Given the description of an element on the screen output the (x, y) to click on. 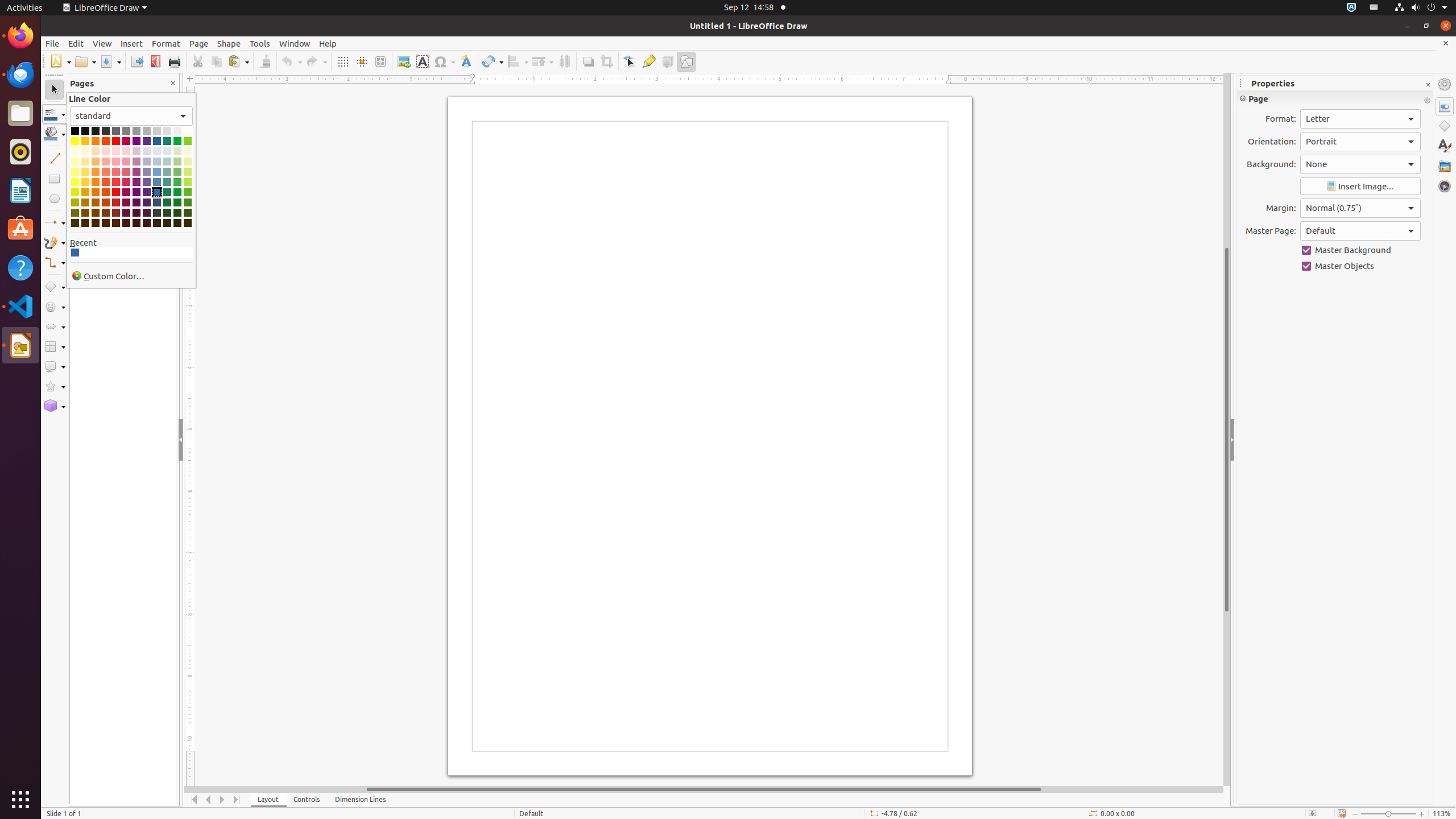
Dark Indigo 4 Element type: list-item (146, 222)
Cut Element type: push-button (197, 61)
Navigator Element type: radio-button (1444, 185)
Window Element type: menu (294, 43)
Ubuntu Software Element type: push-button (20, 229)
